Given the description of an element on the screen output the (x, y) to click on. 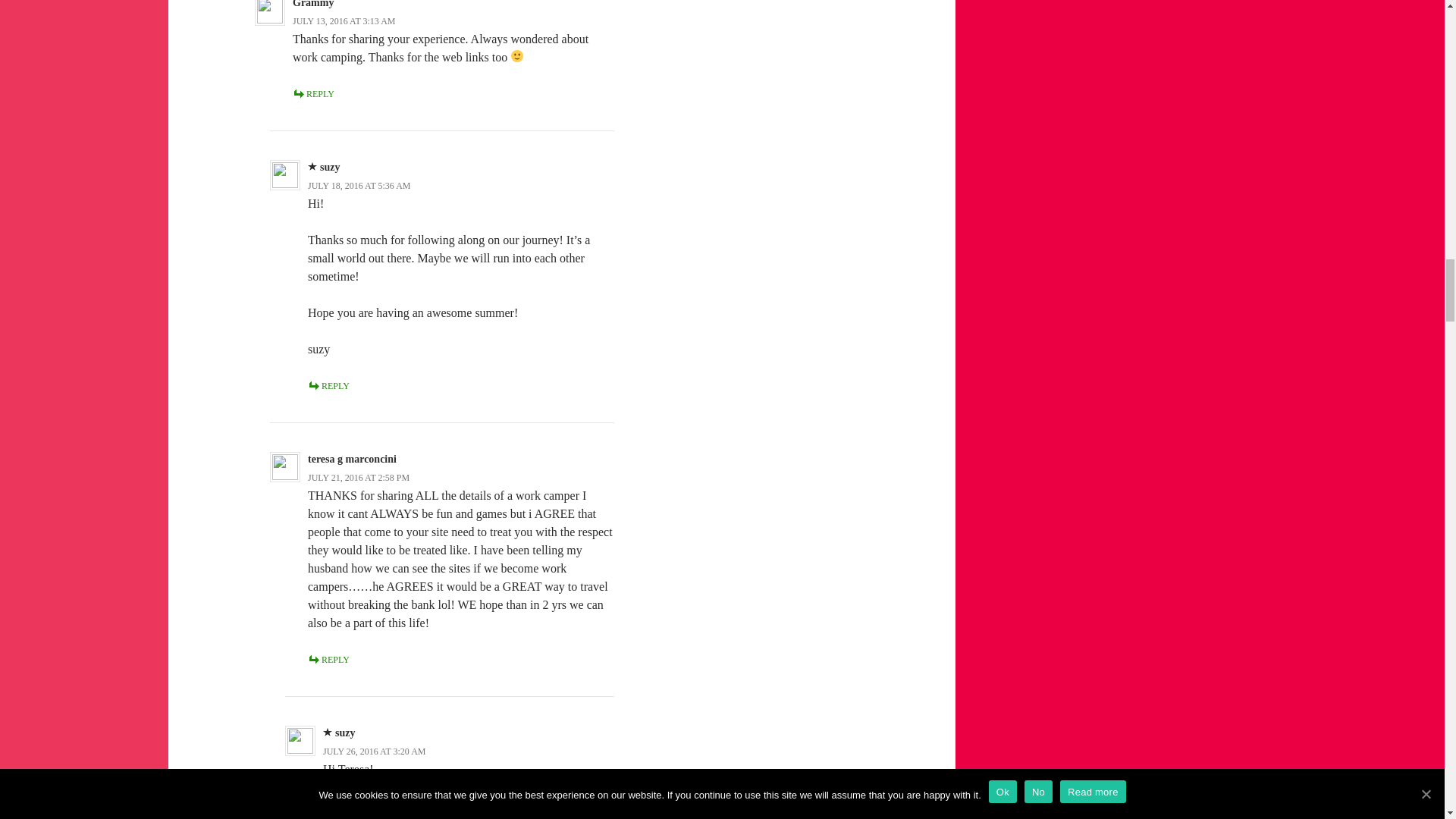
Grammy (312, 4)
REPLY (313, 93)
JULY 13, 2016 AT 3:13 AM (343, 20)
JULY 18, 2016 AT 5:36 AM (358, 185)
REPLY (328, 385)
JULY 21, 2016 AT 2:58 PM (358, 477)
